Given the description of an element on the screen output the (x, y) to click on. 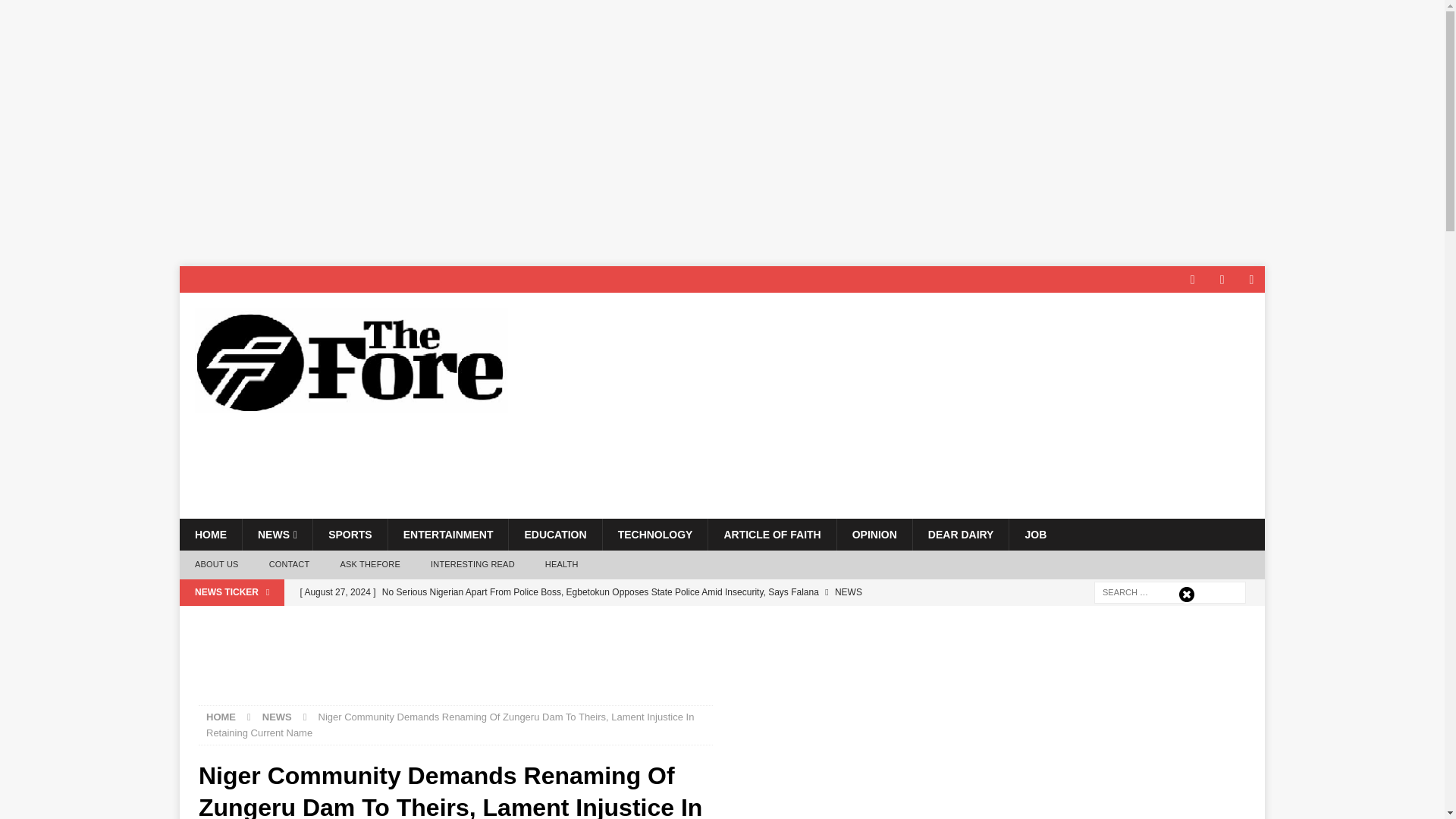
NEWS (277, 534)
CONTACT (288, 564)
ENTERTAINMENT (447, 534)
OPINION (873, 534)
JOB (1035, 534)
ABOUT US (216, 564)
SPORTS (350, 534)
ARTICLE OF FAITH (771, 534)
